Given the description of an element on the screen output the (x, y) to click on. 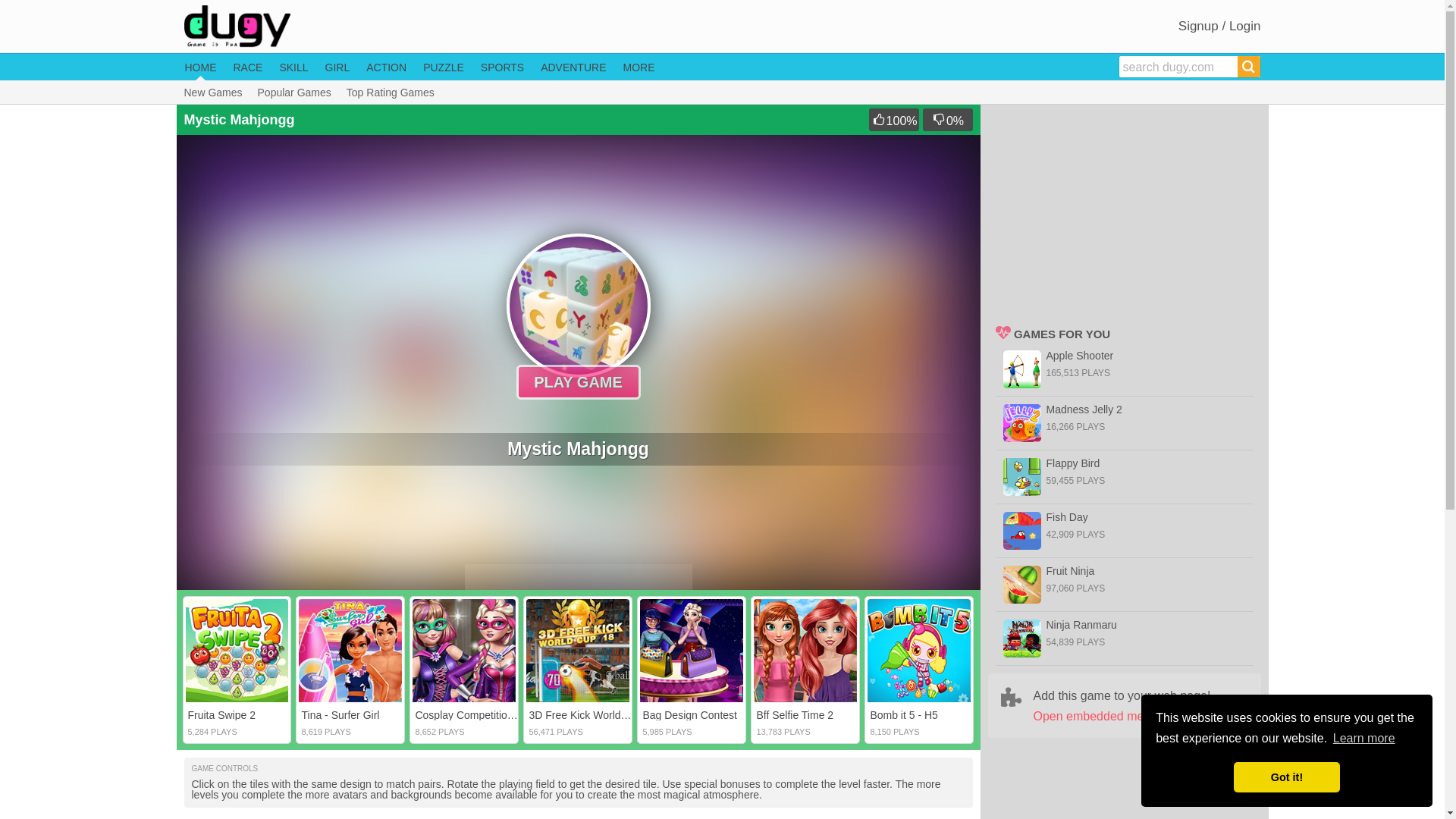
I don't like it (946, 119)
MORE (638, 67)
RACE (247, 67)
search dugy.com (1177, 67)
SKILL (293, 67)
HOME (200, 67)
Learn more (1363, 738)
New Games (212, 92)
GIRL (337, 67)
SPORTS (502, 67)
ADVENTURE (572, 67)
I like it (893, 119)
ACTION (386, 67)
PUZZLE (443, 67)
Top Rating Games (389, 92)
